Given the description of an element on the screen output the (x, y) to click on. 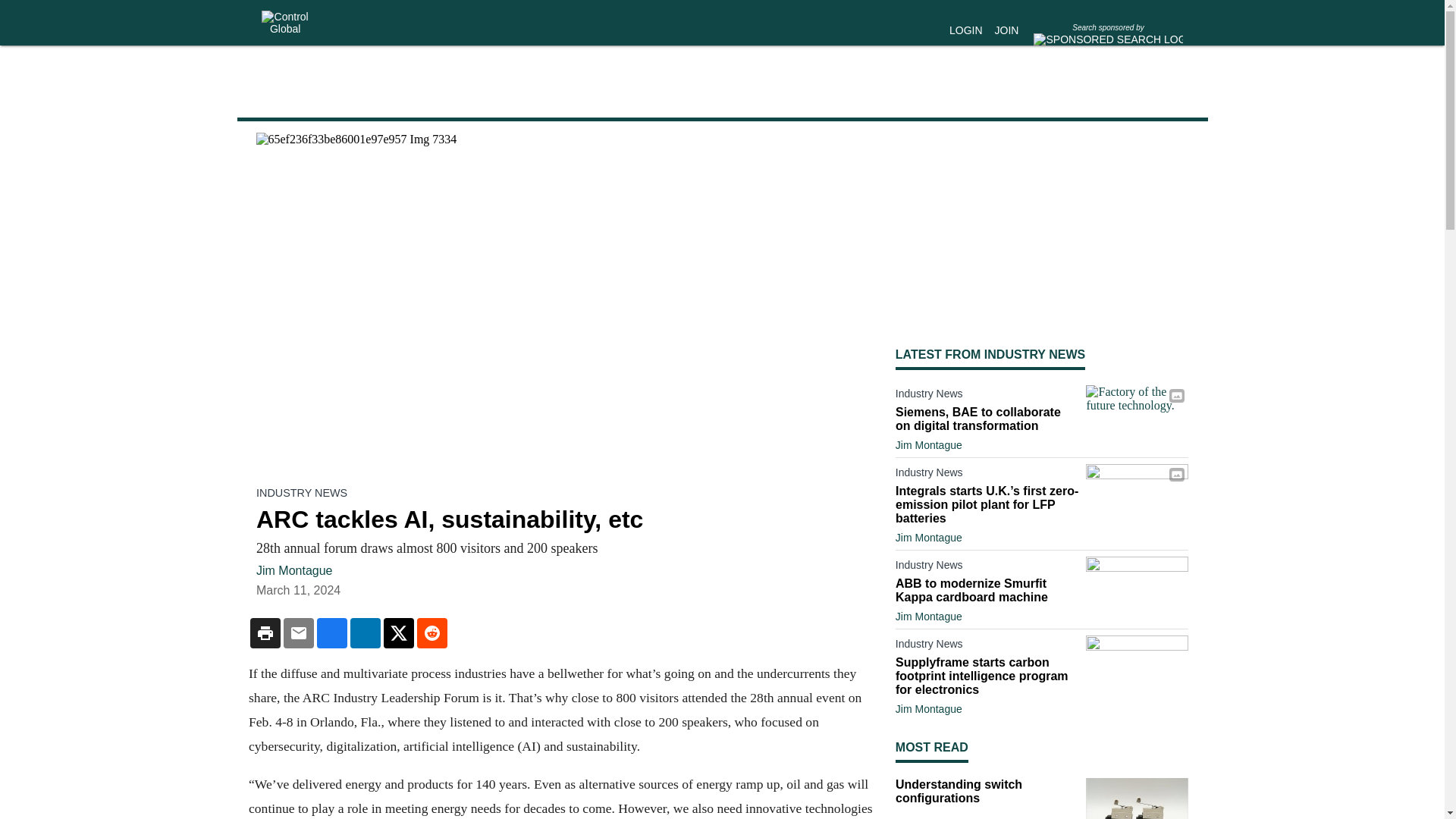
JOIN (1006, 30)
Factory of the future technology. (1137, 413)
LOGIN (965, 30)
